Given the description of an element on the screen output the (x, y) to click on. 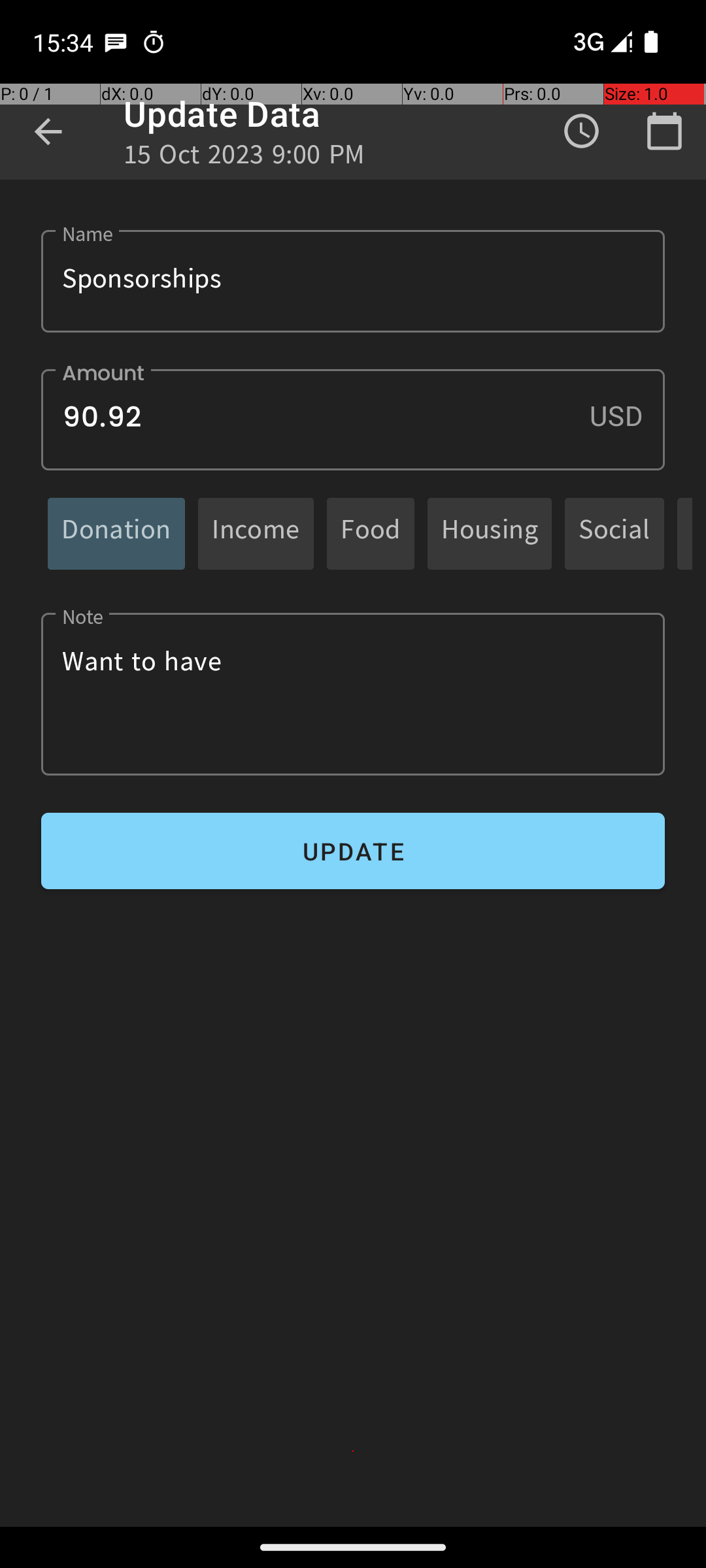
15 Oct 2023 9:00 PM Element type: android.widget.TextView (244, 157)
Sponsorships Element type: android.widget.EditText (352, 280)
90.92 Element type: android.widget.EditText (352, 419)
Donation Element type: android.widget.TextView (116, 533)
